Given the description of an element on the screen output the (x, y) to click on. 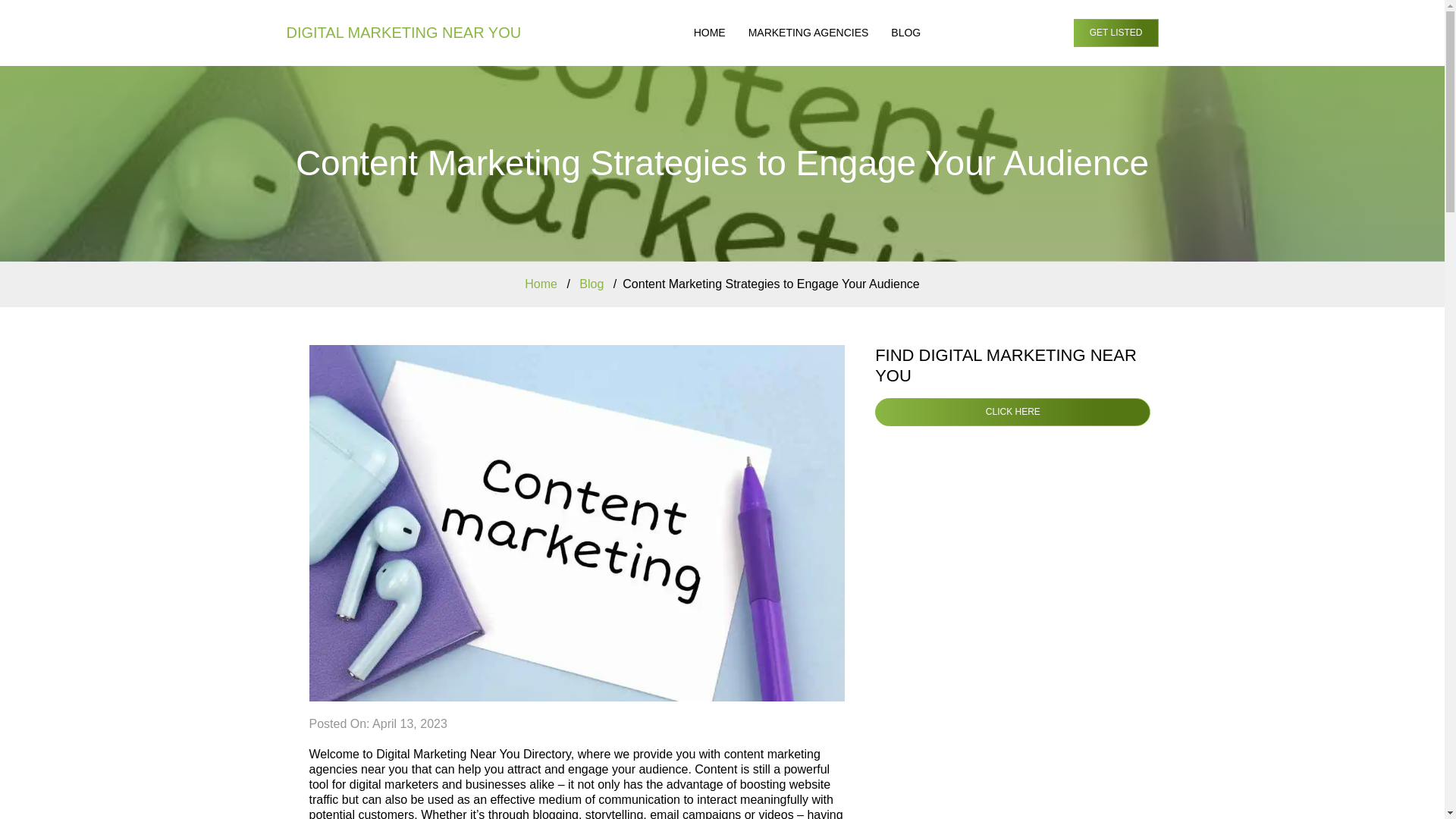
Blog (591, 283)
DIGITAL MARKETING NEAR YOU (403, 32)
MARKETING AGENCIES (808, 33)
HOME (709, 33)
Blog (905, 33)
CLICK HERE (1012, 411)
Marketing Agencies (808, 33)
Home (540, 283)
GET LISTED (1116, 32)
Home (709, 33)
